Given the description of an element on the screen output the (x, y) to click on. 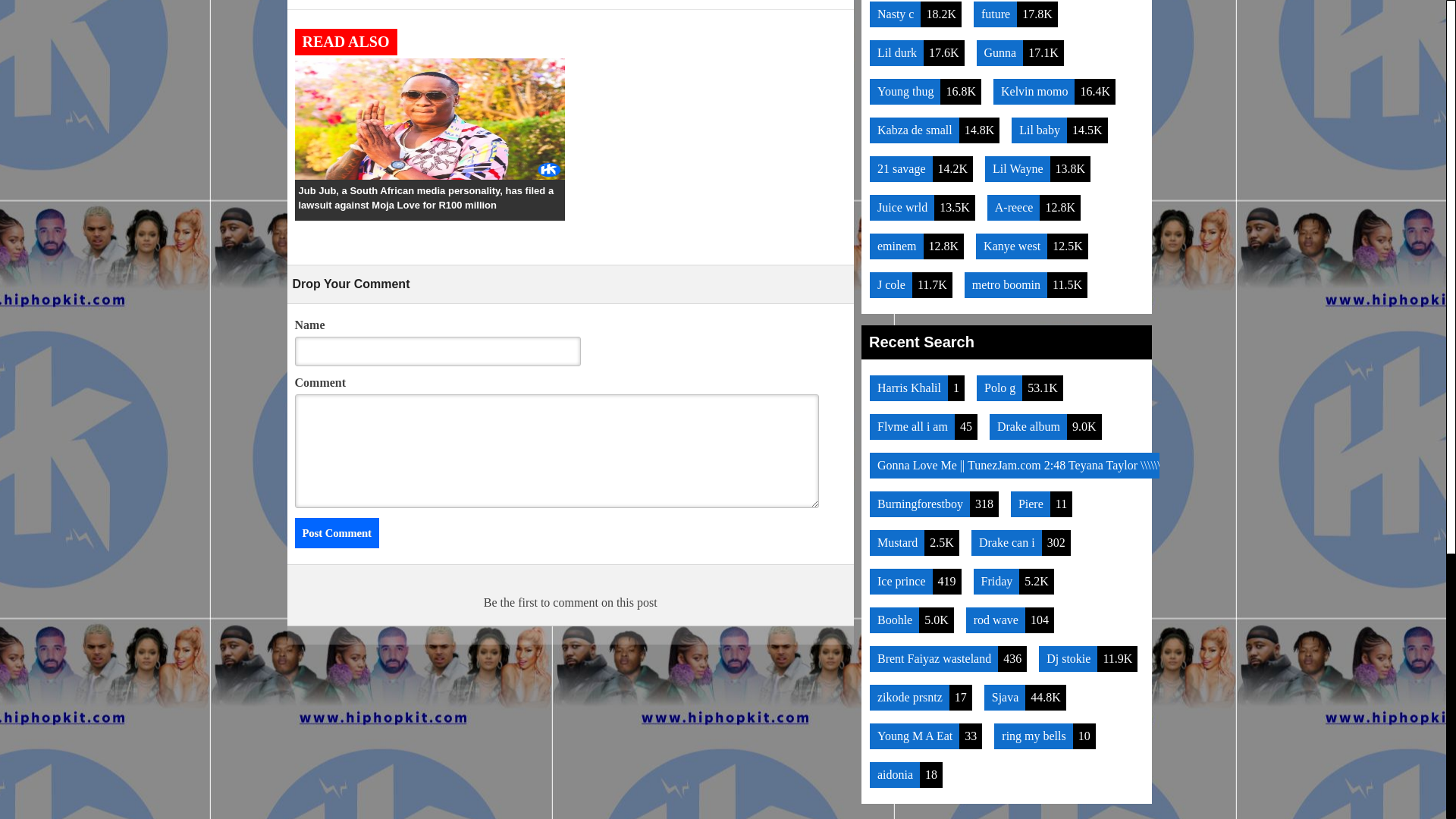
Post Comment (336, 532)
Post Comment (336, 532)
